Given the description of an element on the screen output the (x, y) to click on. 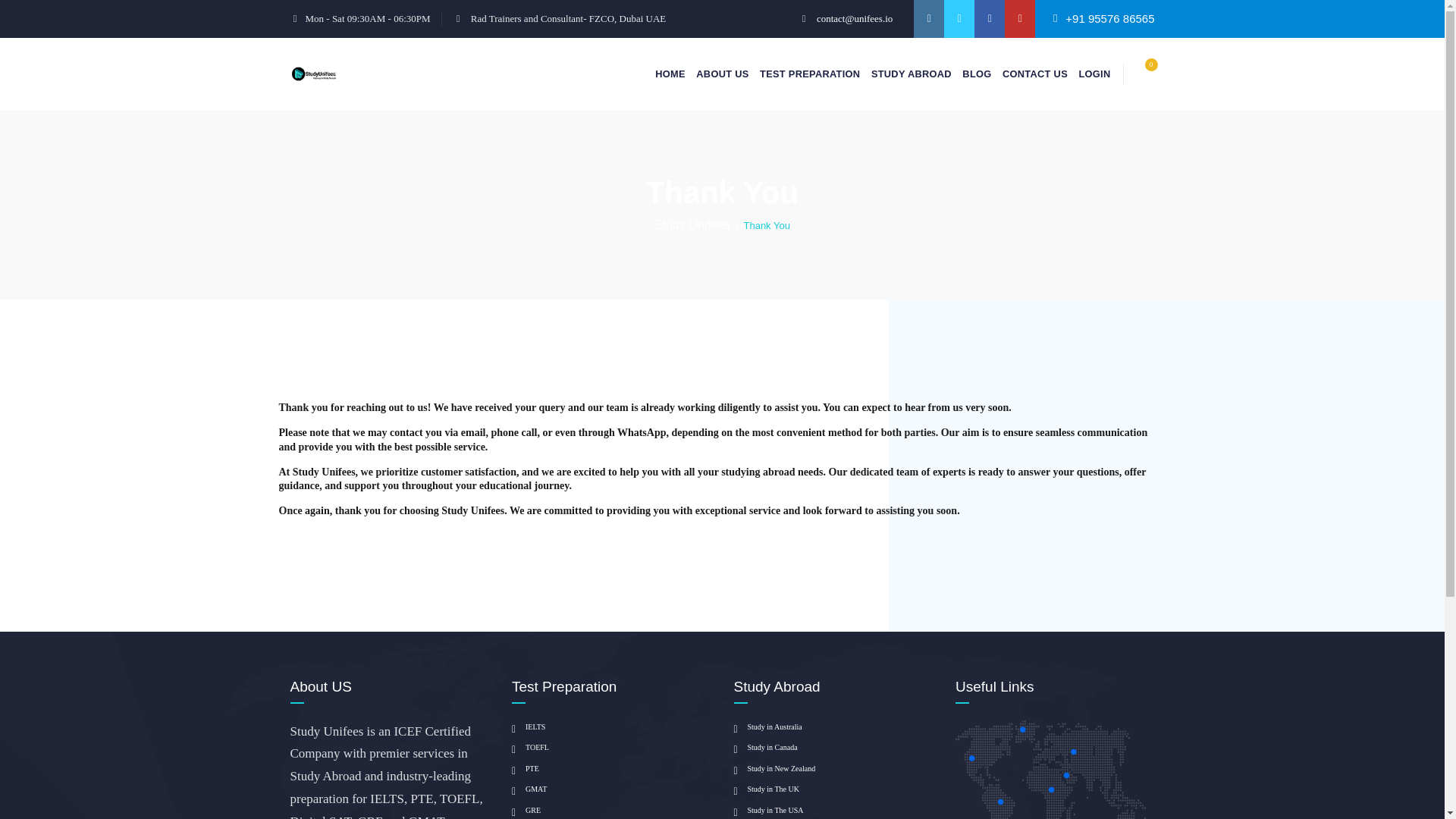
STUDY ABROAD (911, 73)
0 (1142, 74)
IELTS (528, 726)
Study Unifees (691, 224)
GMAT (529, 789)
GRE (526, 810)
PTE (525, 768)
TEST PREPARATION (809, 73)
TOEFL (530, 747)
Go to Study Unifees. (691, 224)
CONTACT US (1034, 73)
Useful Links (1052, 769)
